Given the description of an element on the screen output the (x, y) to click on. 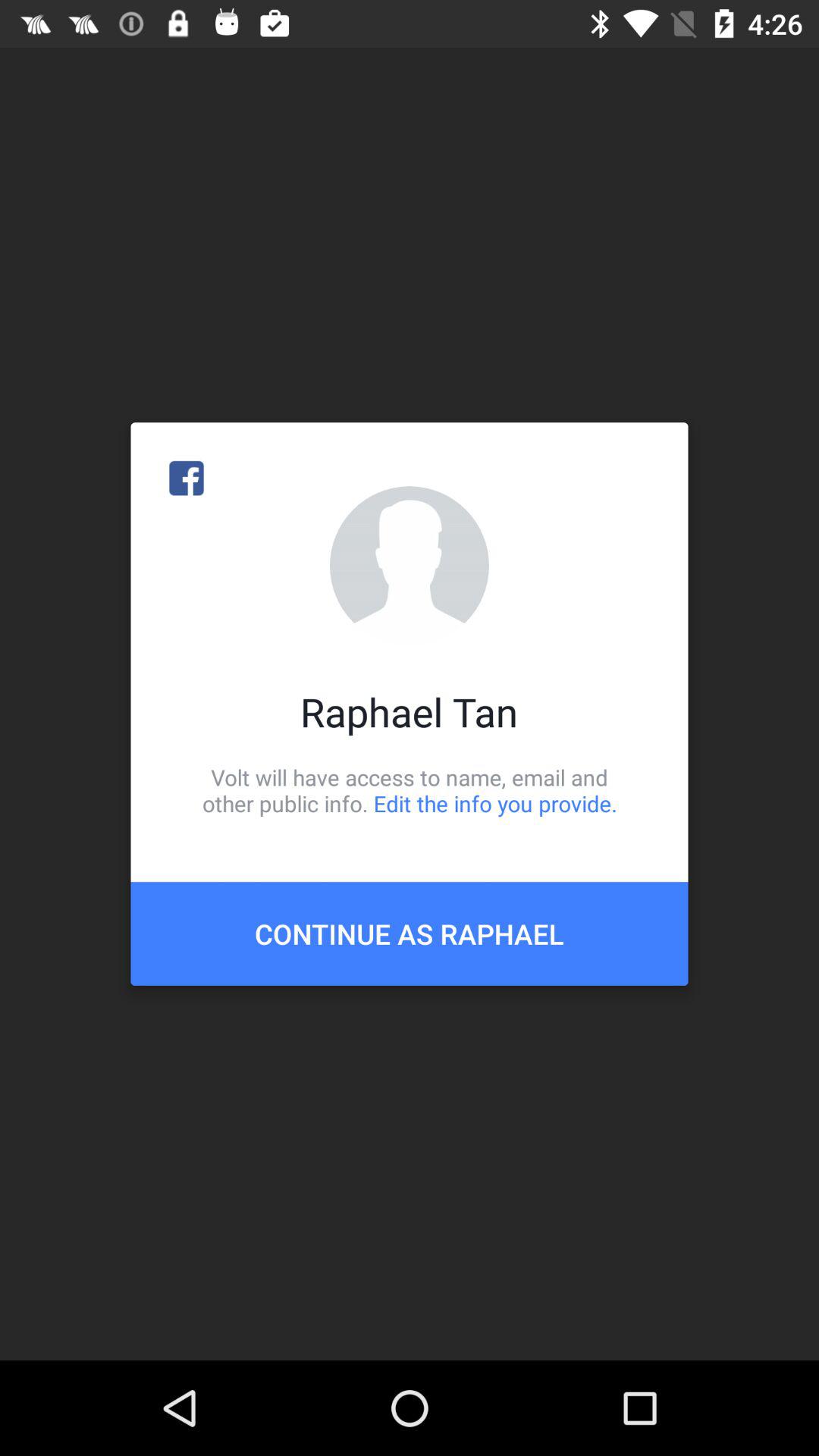
jump to the continue as raphael (409, 933)
